Given the description of an element on the screen output the (x, y) to click on. 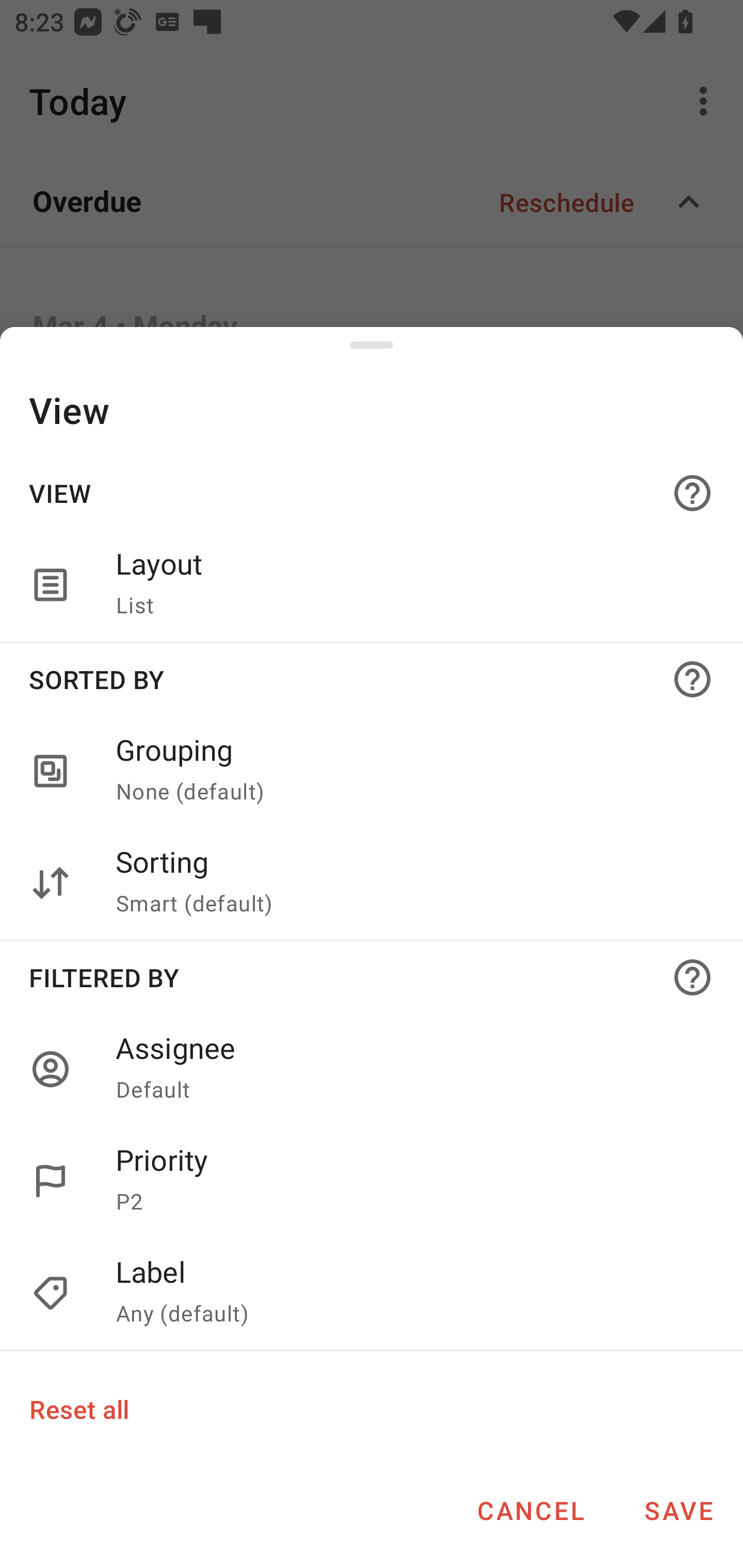
Layout List (371, 585)
Layout List (407, 585)
SORTED BY (371, 678)
Grouping None (default) (371, 771)
Grouping None (default) (407, 771)
Sorting Smart (default) (371, 883)
Sorting Smart (default) (407, 883)
FILTERED BY (371, 976)
Assignee Default (371, 1068)
Assignee Default (407, 1068)
Priority P2 (371, 1181)
Priority P2 (407, 1181)
Label Any (default) (371, 1293)
Label Any (default) (407, 1293)
Reset all (78, 1408)
CANCEL (530, 1510)
SAVE (678, 1510)
